Given the description of an element on the screen output the (x, y) to click on. 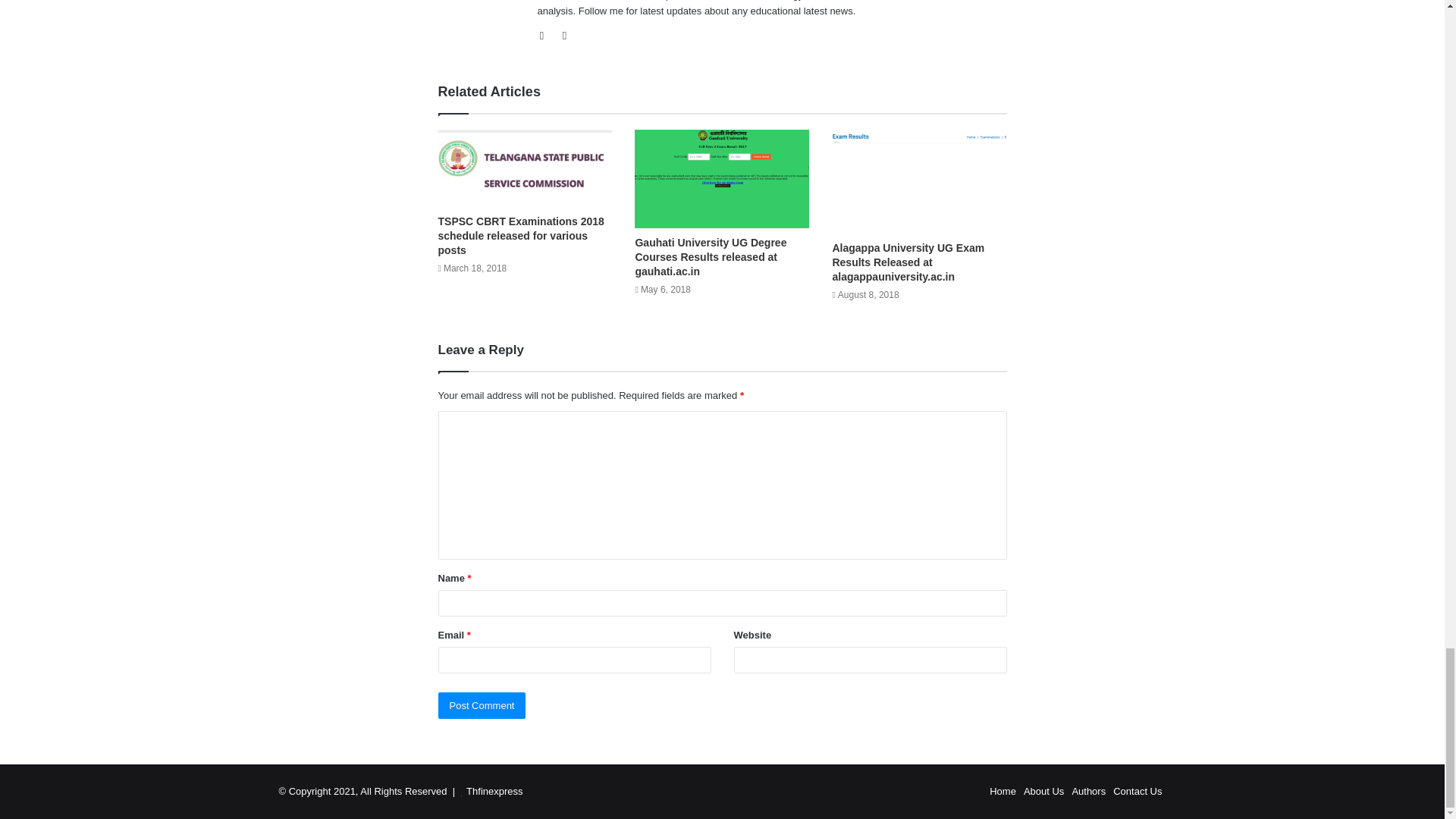
Twitter (563, 35)
Post Comment (481, 705)
Facebook (545, 35)
